Given the description of an element on the screen output the (x, y) to click on. 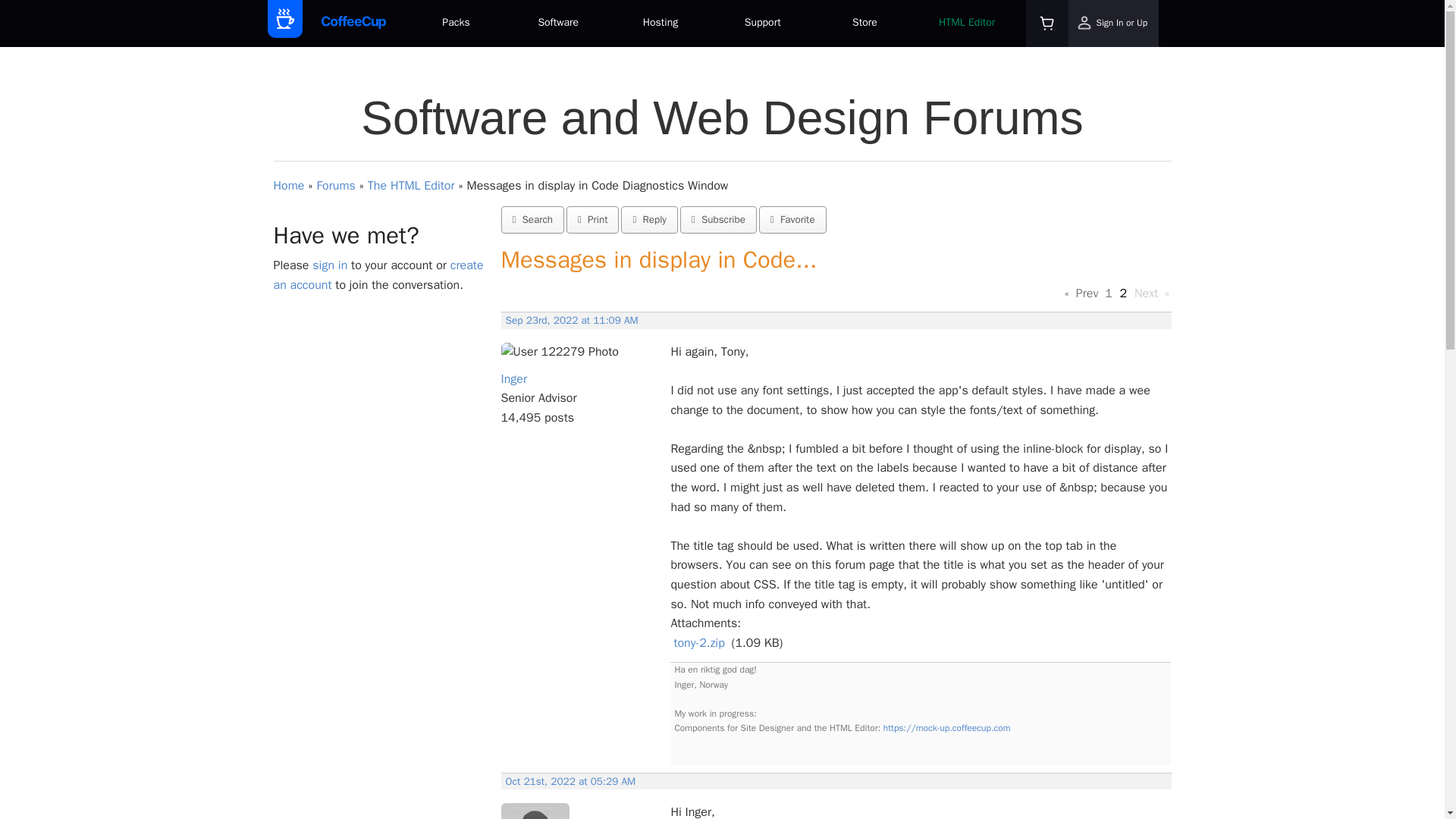
Software (558, 23)
Packs (455, 23)
Hosting (660, 23)
Store (864, 23)
Support (762, 23)
Web design can be surprisingly simple. (558, 23)
Everything you need for success on the web. (455, 23)
CoffeeCup Home (353, 23)
